Given the description of an element on the screen output the (x, y) to click on. 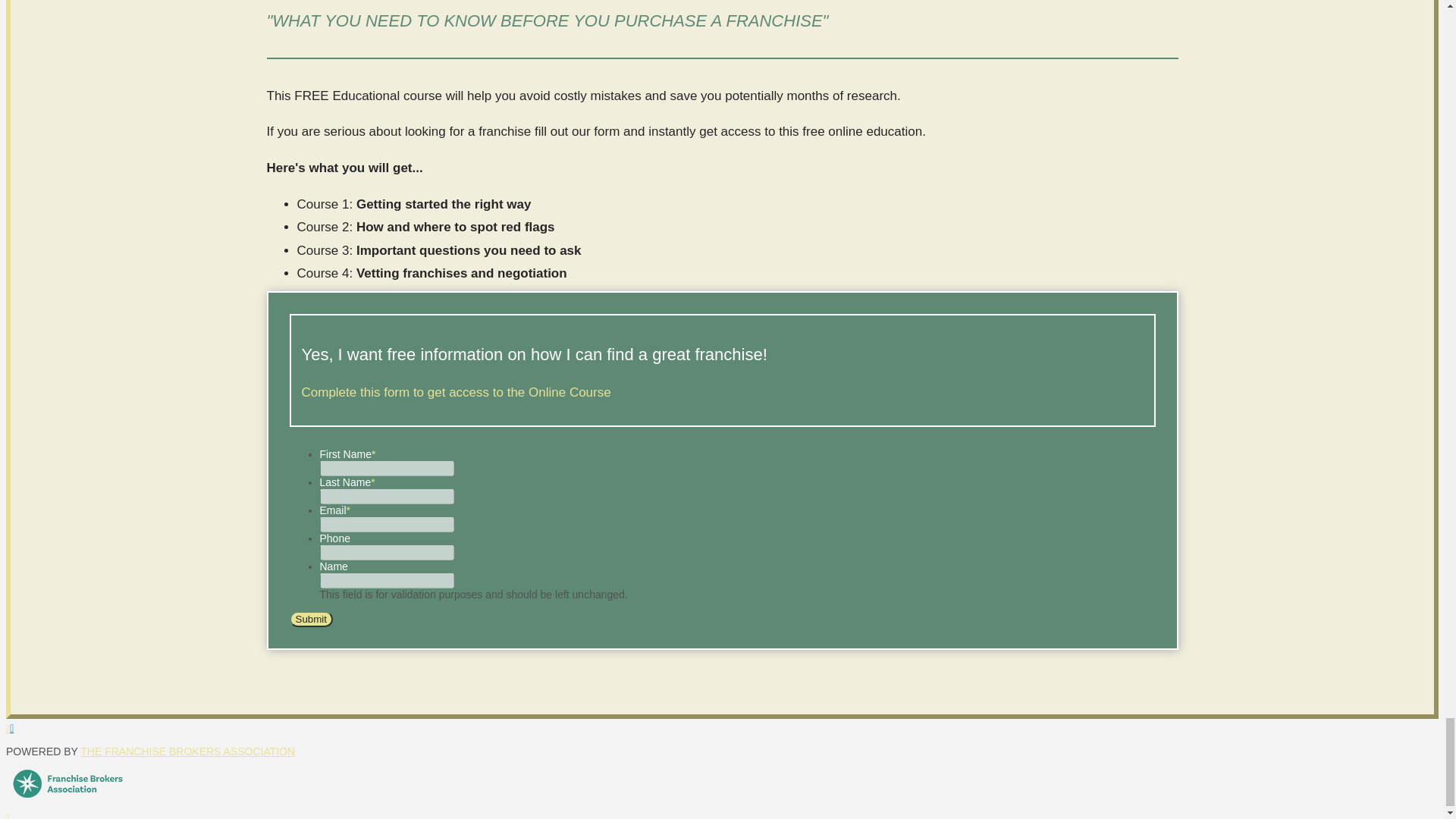
Submit (311, 618)
LinkedIn (17, 727)
THE FRANCHISE BROKERS ASSOCIATION (187, 751)
Submit (311, 618)
THE FRANCHISE BROKERS ASSOCIATION (187, 751)
